Given the description of an element on the screen output the (x, y) to click on. 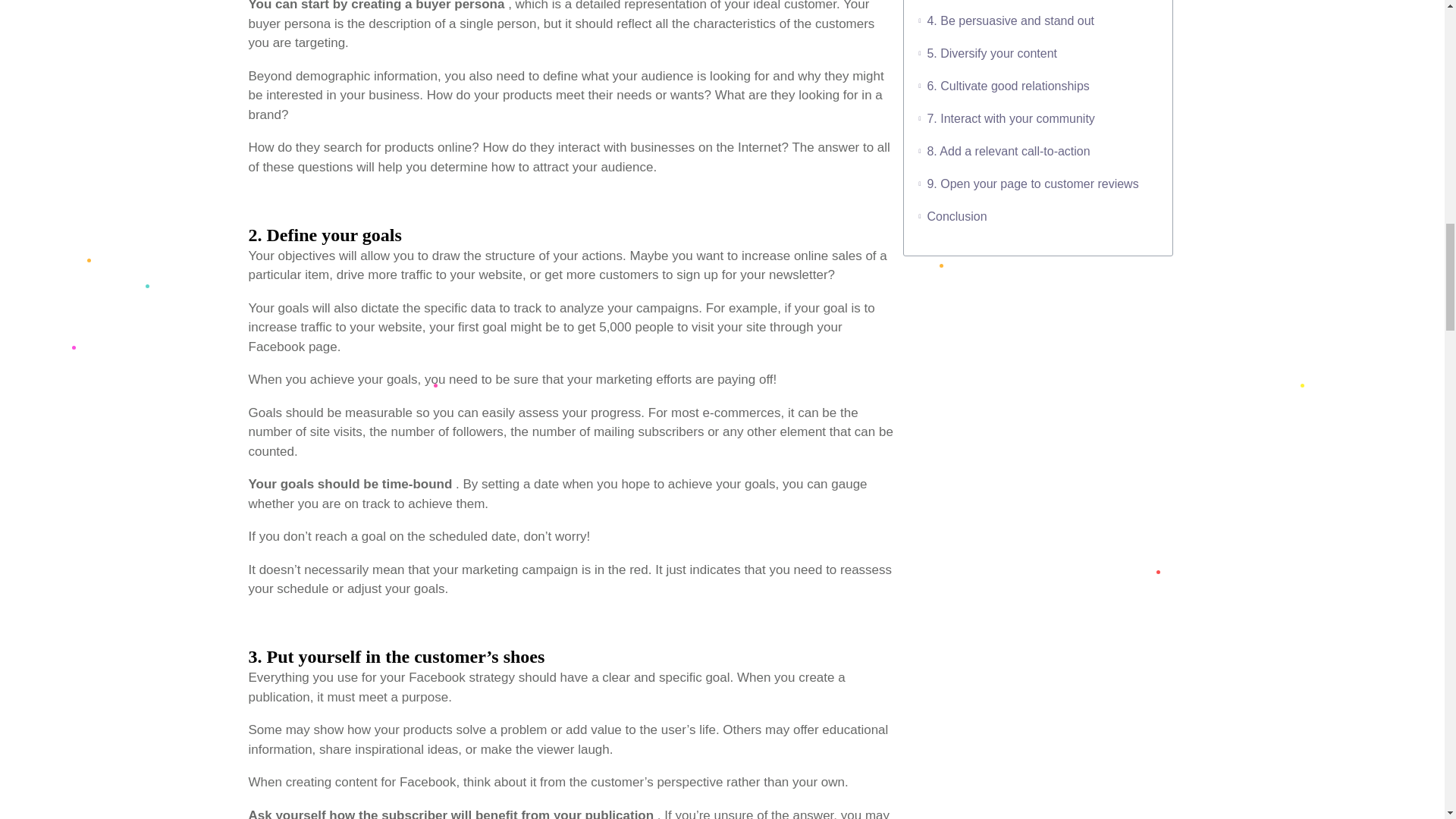
9. Open your page to customer reviews (1032, 183)
6. Cultivate good relationships (1007, 86)
4. Be persuasive and stand out (1010, 20)
8. Add a relevant call-to-action (1007, 150)
Conclusion (956, 216)
5. Diversify your content (991, 53)
7. Interact with your community (1010, 118)
